Given the description of an element on the screen output the (x, y) to click on. 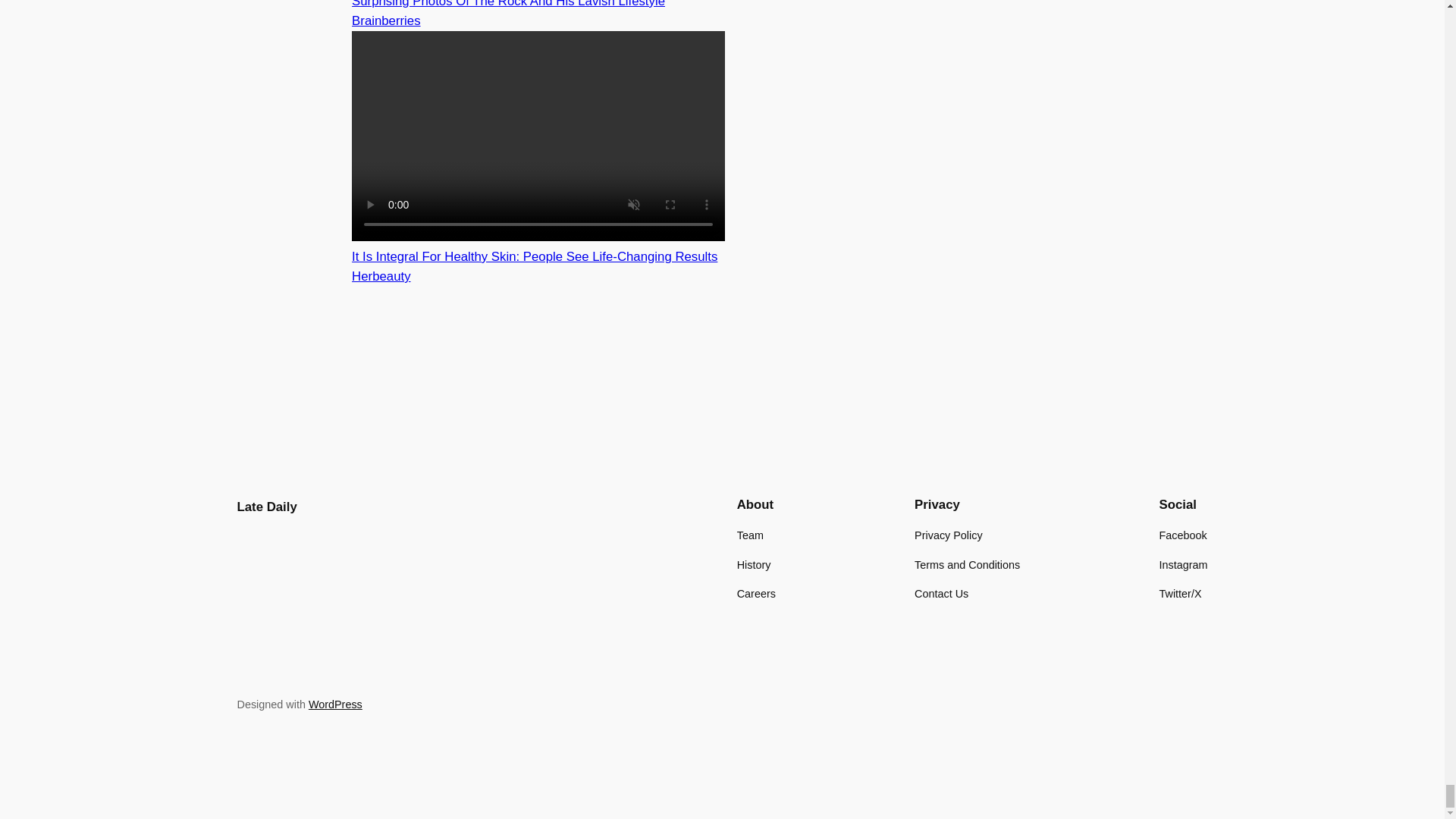
Late Daily (266, 506)
Terms and Conditions (967, 564)
Team (749, 535)
Privacy Policy (948, 535)
Contact Us (941, 593)
Careers (756, 593)
History (753, 564)
